Given the description of an element on the screen output the (x, y) to click on. 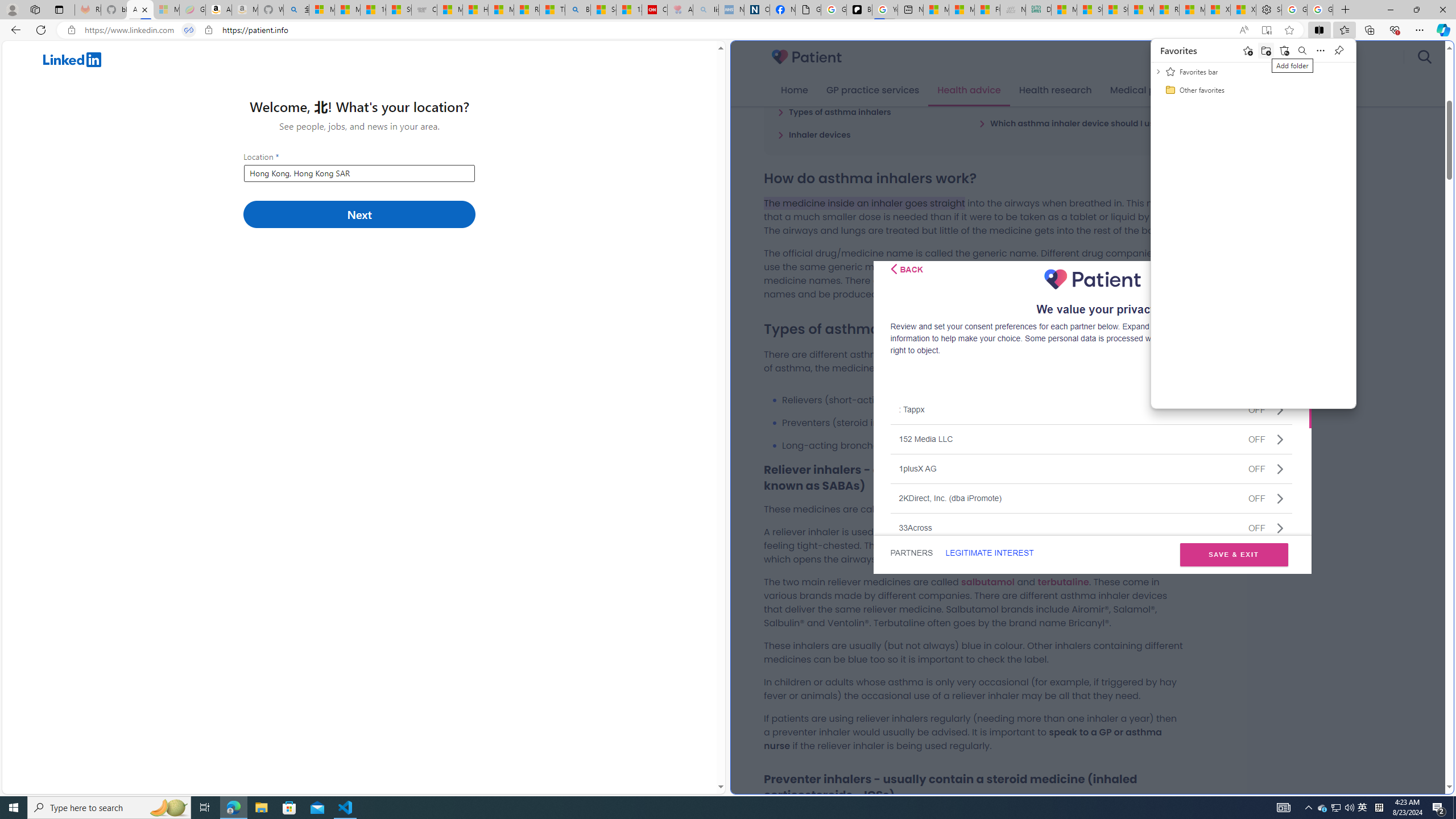
Long-acting bronchodilators. (983, 445)
R******* | Trusted Community Engagement and Contributions (1322, 807)
Tabs in split screen (1165, 9)
Health research (189, 29)
